Given the description of an element on the screen output the (x, y) to click on. 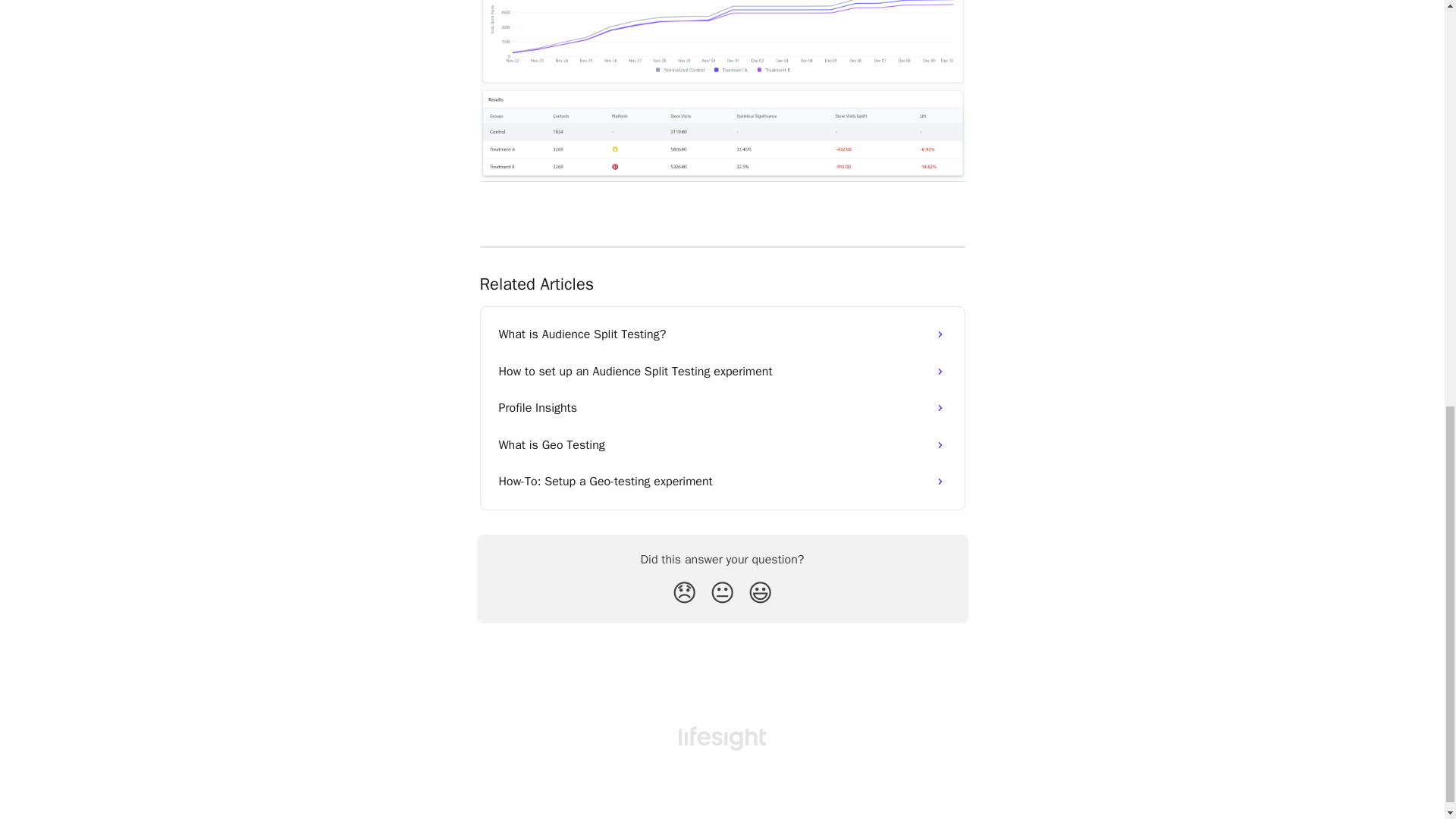
What is Geo Testing (722, 444)
Profile Insights (722, 407)
How to set up an Audience Split Testing experiment (722, 370)
What is Audience Split Testing? (722, 334)
How-To: Setup a Geo-testing experiment (722, 481)
